Given the description of an element on the screen output the (x, y) to click on. 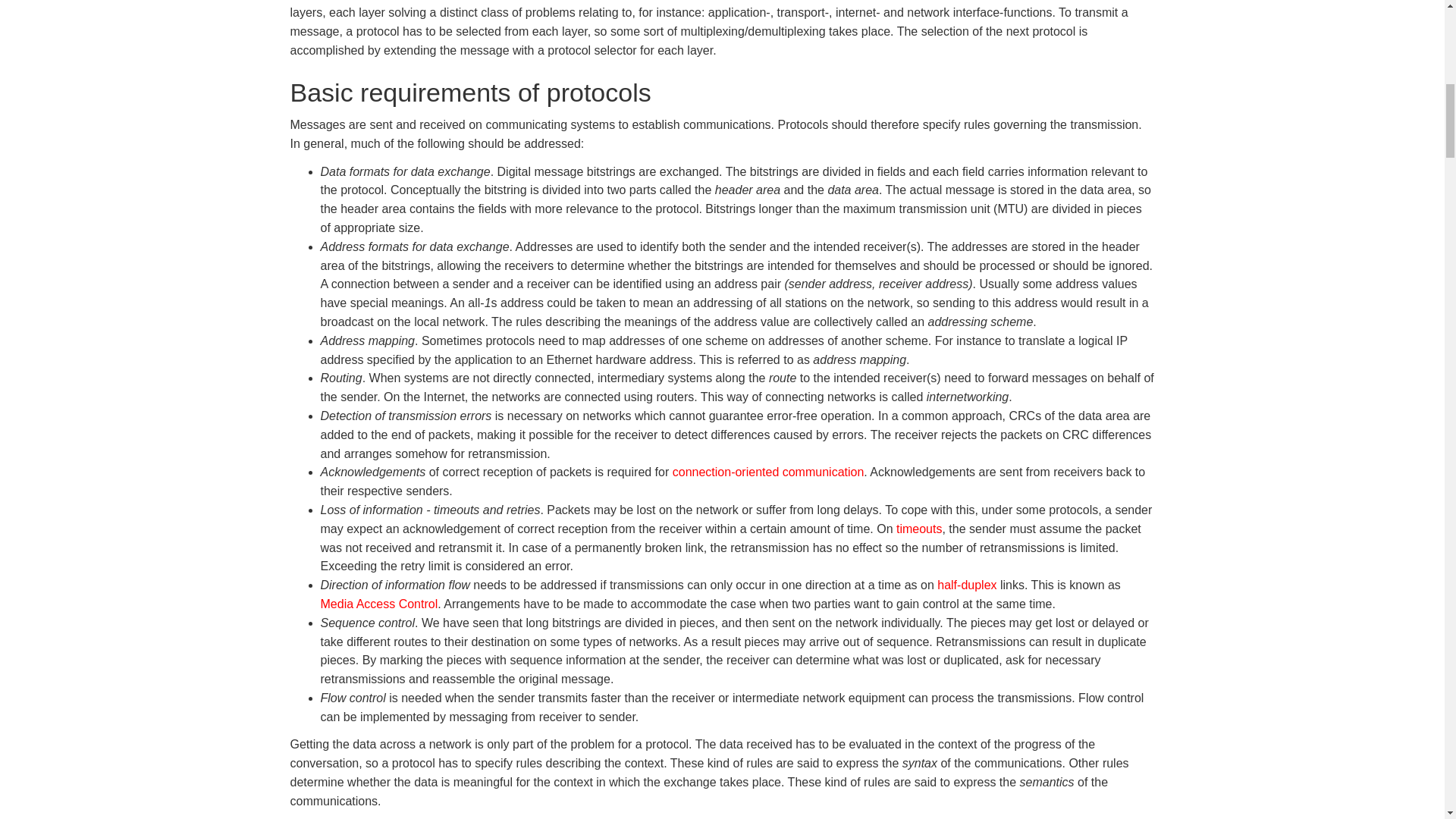
Media Access Control (379, 603)
timeouts (919, 528)
half-duplex (966, 584)
connection-oriented communication (768, 472)
